Given the description of an element on the screen output the (x, y) to click on. 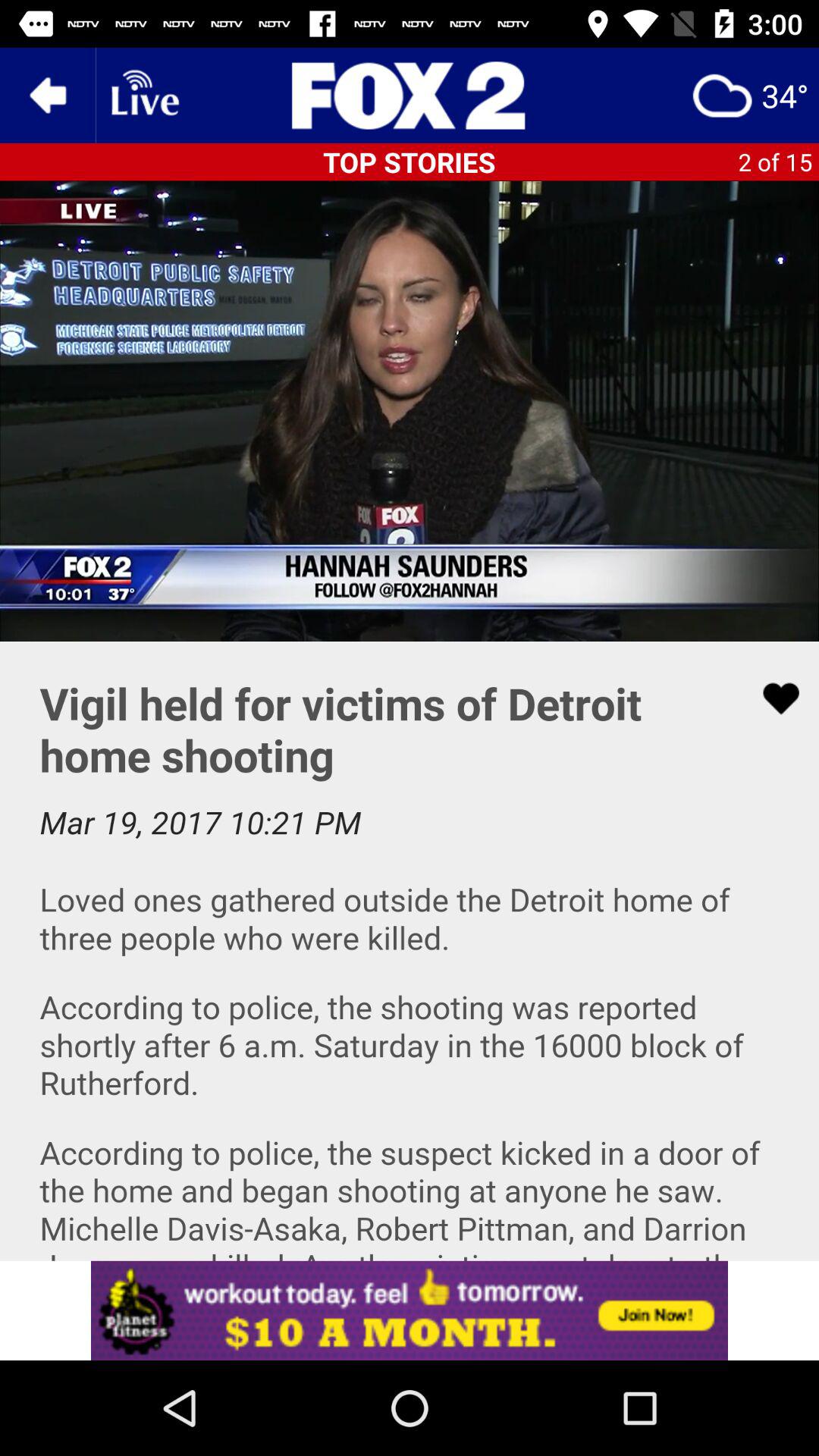
watch live (143, 95)
